Given the description of an element on the screen output the (x, y) to click on. 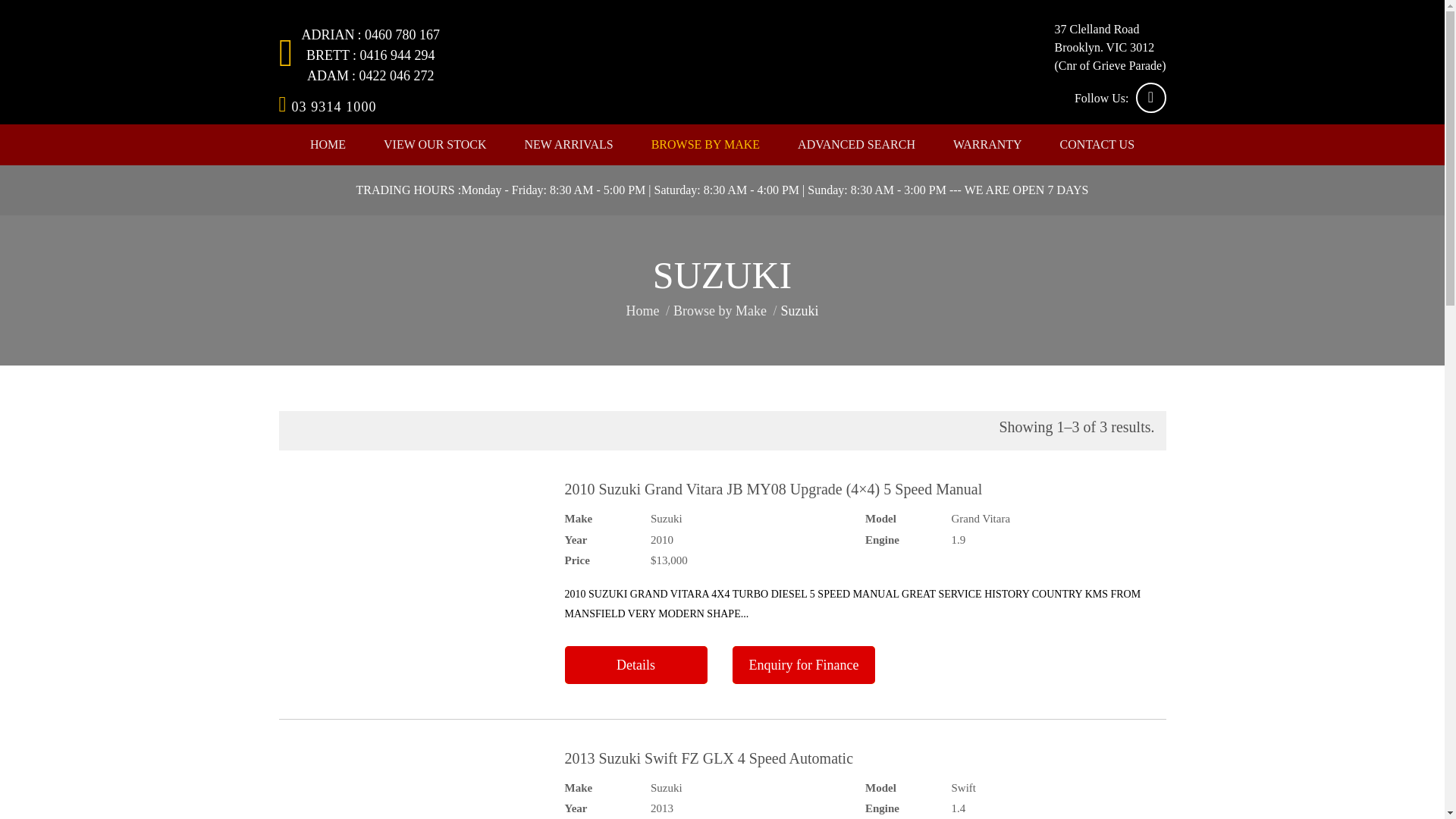
Second Hand Cars for Sale (727, 56)
VIEW OUR STOCK (434, 144)
NEW ARRIVALS (567, 144)
facebook (1150, 97)
: 0460 780 167 (399, 34)
View Our Stock (434, 144)
0416 944 294 (393, 55)
Second Hand Cars for Sale (727, 55)
Home (327, 144)
BROWSE BY MAKE (704, 144)
